Given the description of an element on the screen output the (x, y) to click on. 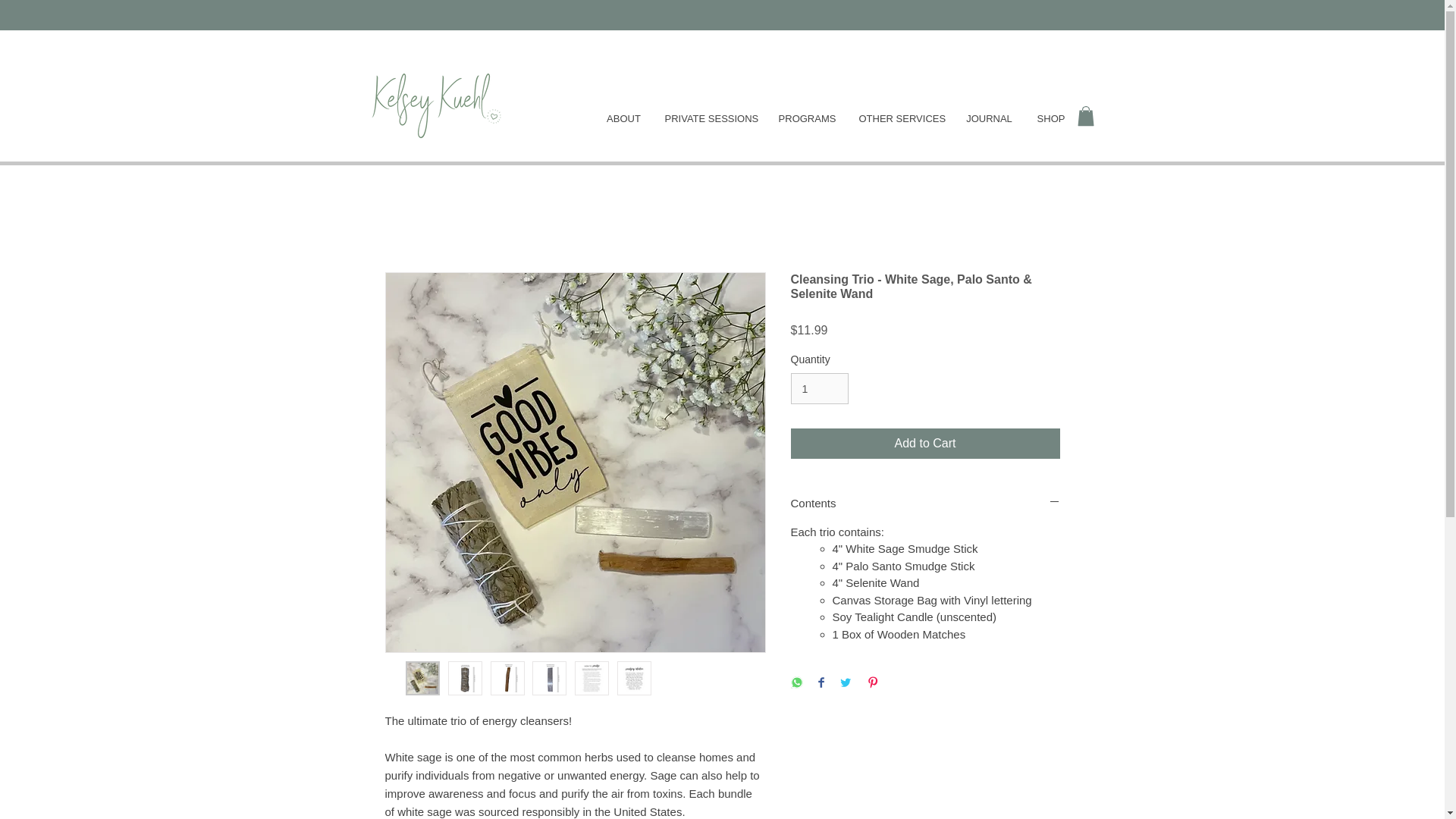
Add to Cart (924, 443)
SHOP (1051, 118)
Contents (924, 503)
PRIVATE SESSIONS (710, 118)
PROGRAMS (807, 118)
ABOUT (623, 118)
JOURNAL (989, 118)
OTHER SERVICES (900, 118)
1 (818, 388)
